Given the description of an element on the screen output the (x, y) to click on. 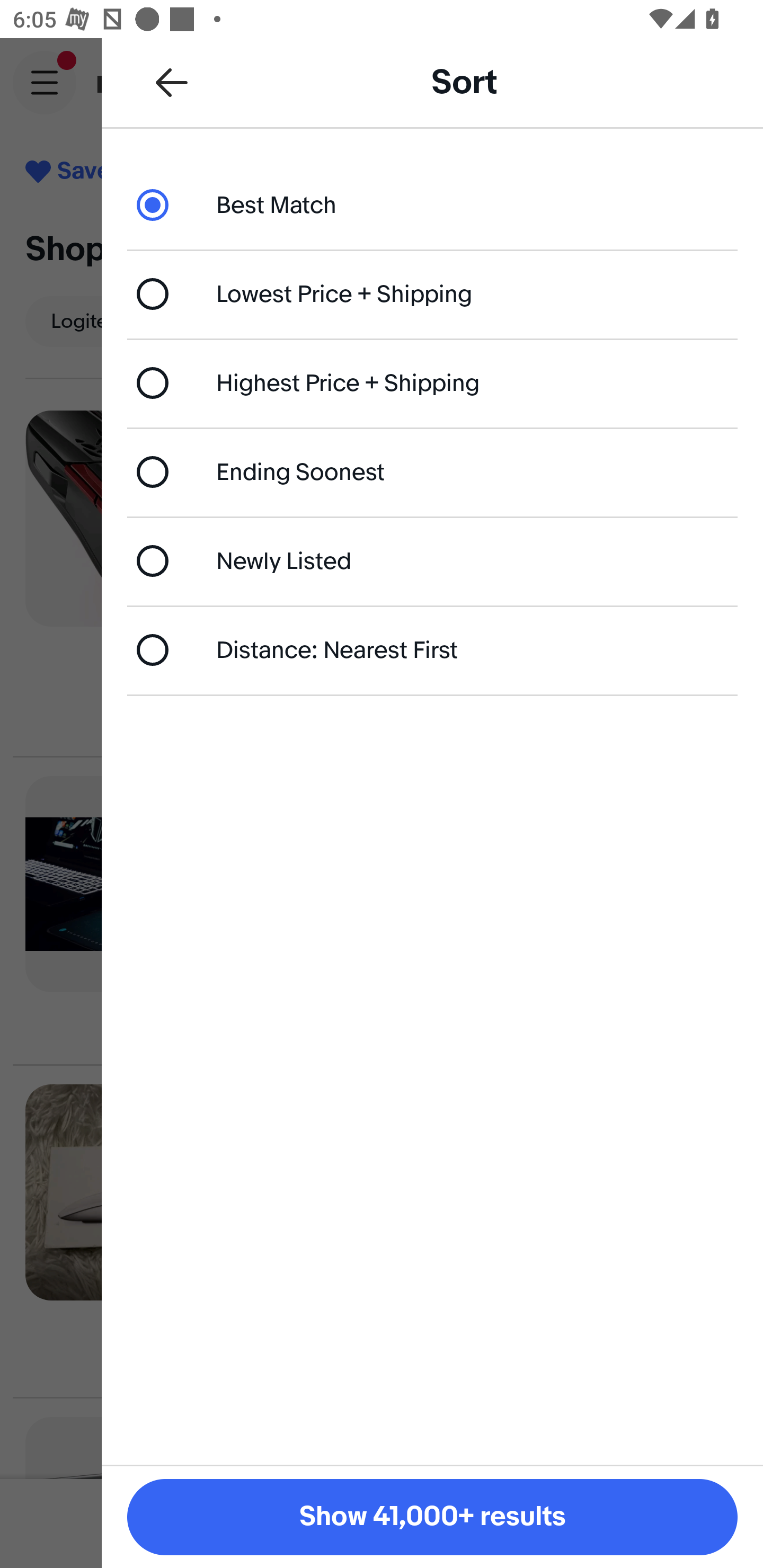
Back to all refinements (171, 81)
Best Match - currently selected Best Match (432, 204)
Lowest Price + Shipping (432, 293)
Highest Price + Shipping (432, 383)
Ending Soonest (432, 471)
Newly Listed (432, 560)
Distance: Nearest First (432, 649)
Show 41,000+ results (432, 1516)
